Given the description of an element on the screen output the (x, y) to click on. 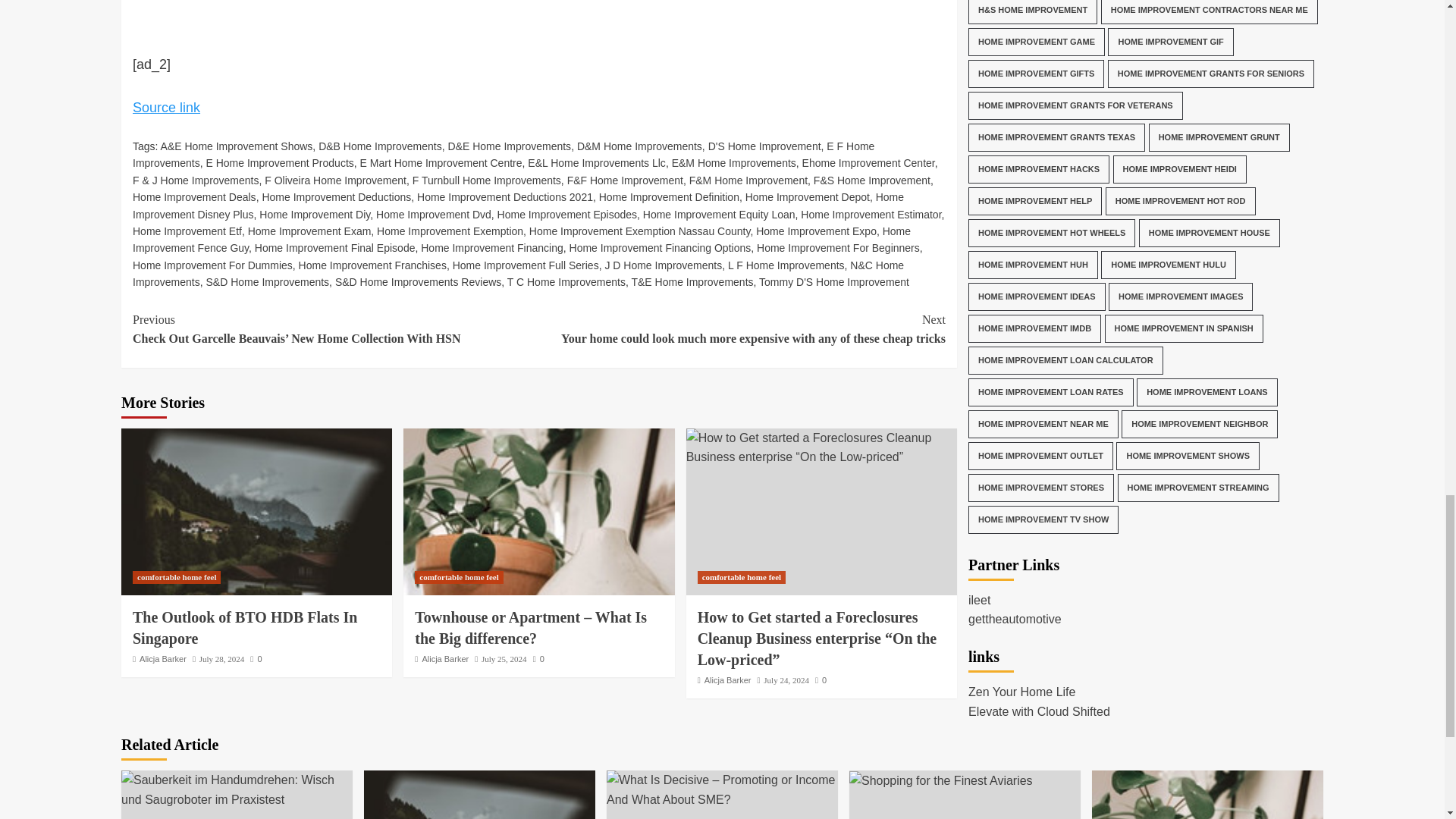
F Turnbull Home Improvements (486, 180)
E Home Improvement Products (279, 162)
F Oliveira Home Improvement (335, 180)
E F Home Improvements (503, 154)
E Mart Home Improvement Centre (440, 162)
D'S Home Improvement (764, 146)
Ehome Improvement Center (868, 162)
The Outlook of BTO HDB Flats In Singapore (255, 511)
Source link (166, 107)
The Outlook of BTO HDB Flats In Singapore (479, 794)
